Given the description of an element on the screen output the (x, y) to click on. 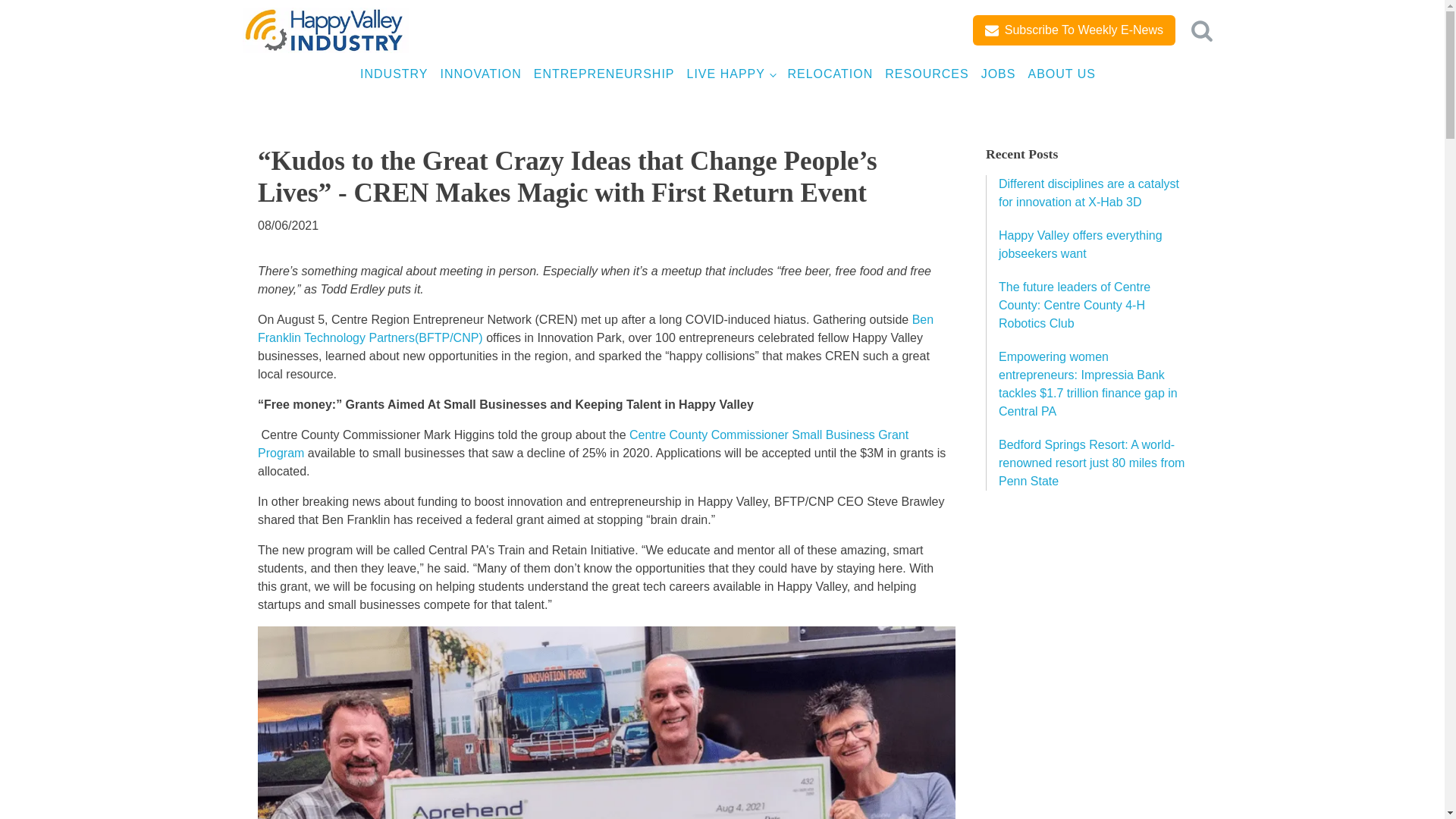
LIVE HAPPY (731, 74)
RELOCATION (829, 74)
INNOVATION (480, 74)
JOBS (998, 74)
Happy Valley offers everything jobseekers want (1079, 244)
ENTREPRENEURSHIP (604, 74)
RESOURCES (926, 74)
Centre County Commissioner Small Business Grant Program (582, 443)
ABOUT US (1062, 74)
INDUSTRY (393, 74)
Subscribe To Weekly E-News (1073, 30)
